Given the description of an element on the screen output the (x, y) to click on. 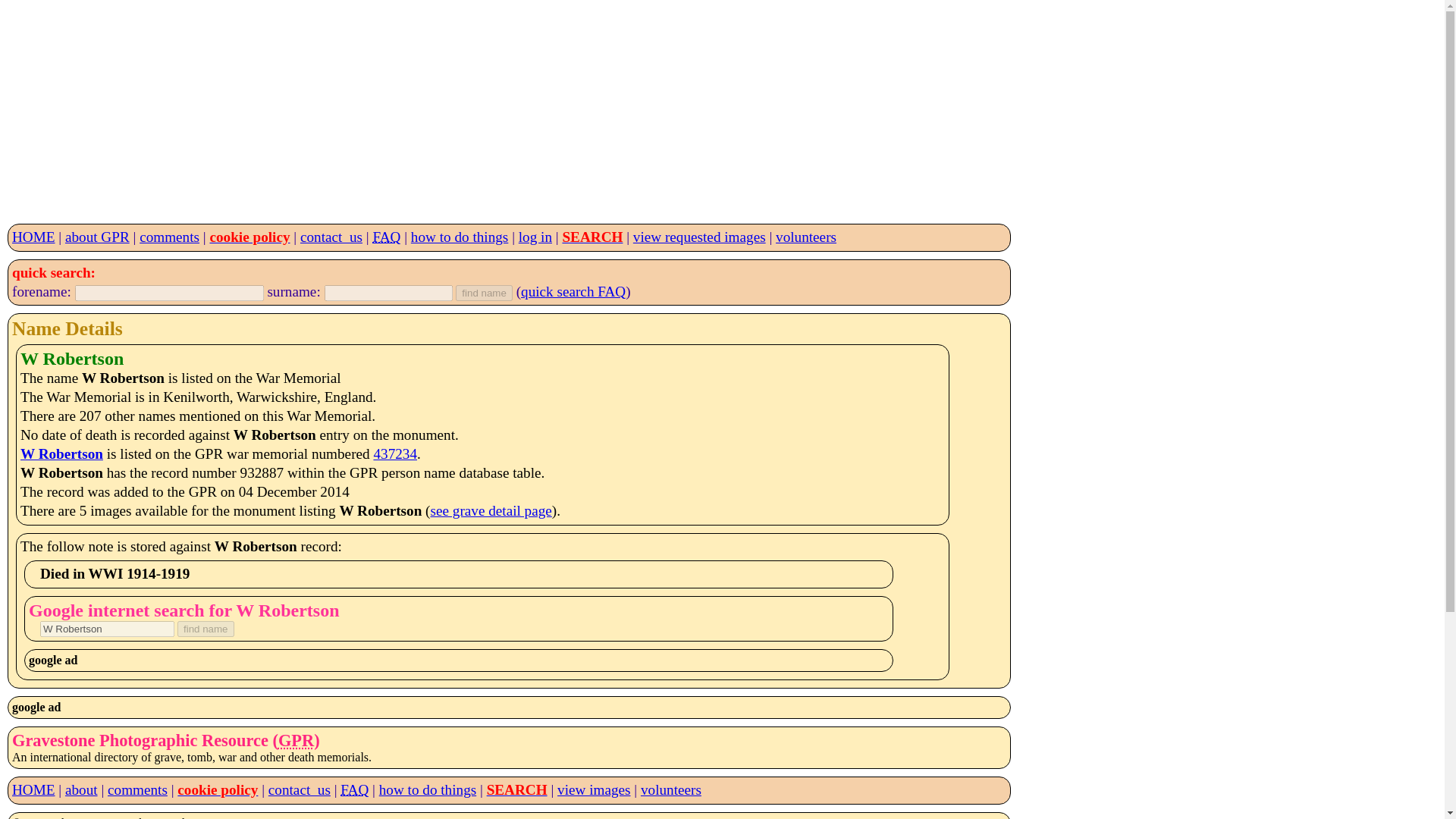
comments (137, 789)
view requested images (699, 236)
about GPR (97, 236)
W Robertson (61, 453)
log in (534, 236)
find name (205, 628)
cookie policy (249, 236)
Frequently Asked Questions (386, 236)
W Robertson (107, 628)
volunteers (805, 236)
